Given the description of an element on the screen output the (x, y) to click on. 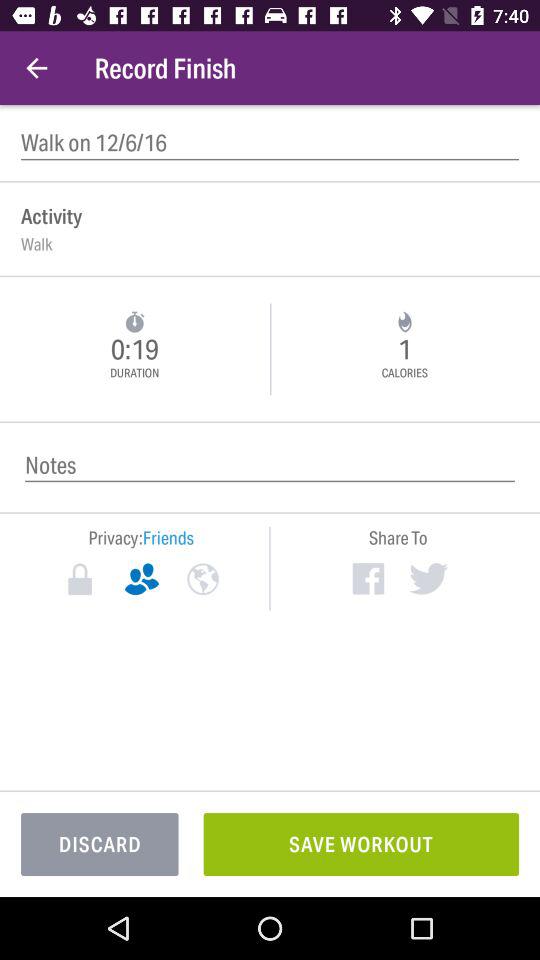
global friends (202, 579)
